Given the description of an element on the screen output the (x, y) to click on. 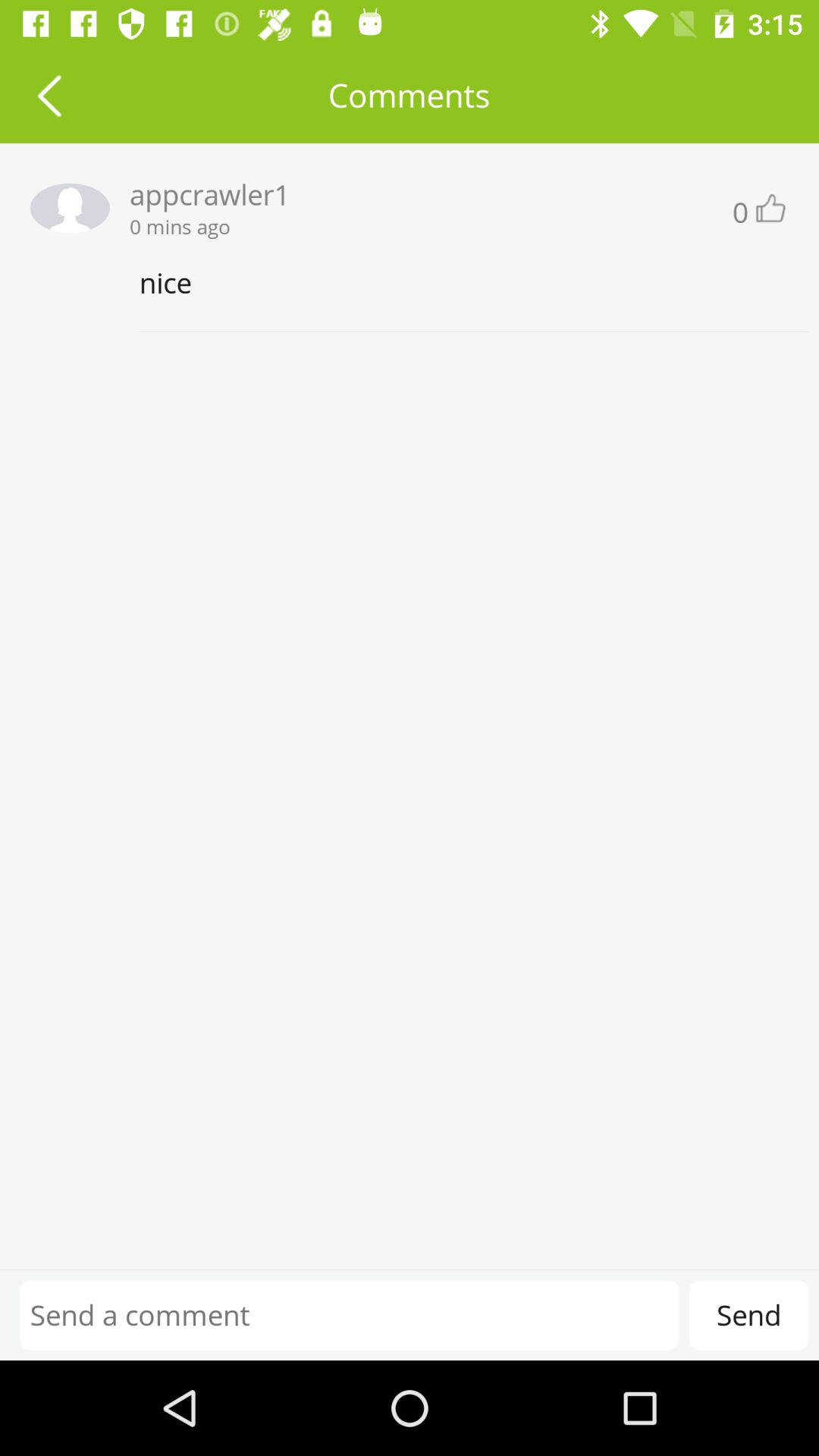
click send at the bottom right corner (748, 1315)
